Given the description of an element on the screen output the (x, y) to click on. 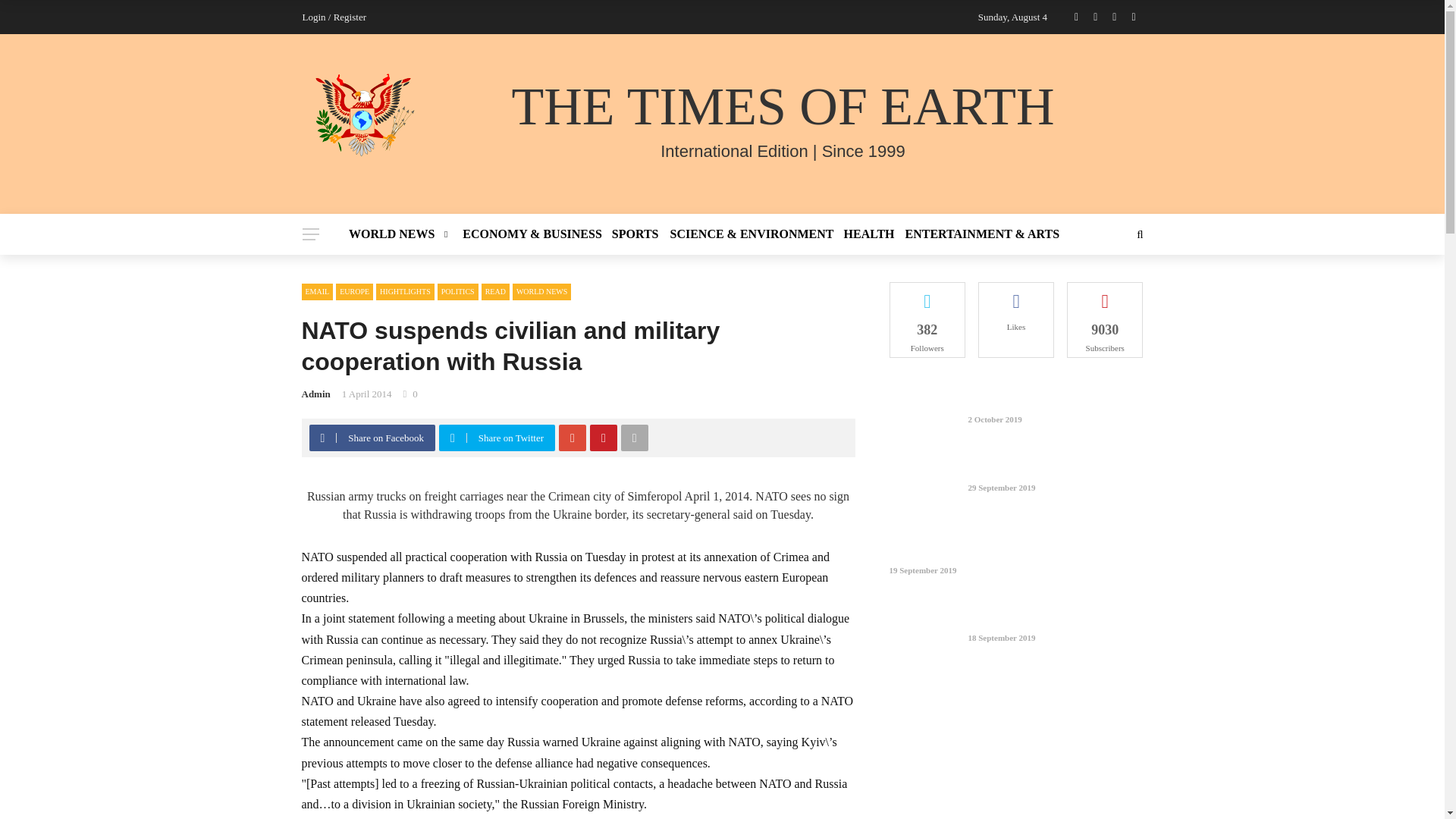
HEALTH (868, 233)
WORLD NEWS (403, 233)
SPORTS (635, 233)
